Given the description of an element on the screen output the (x, y) to click on. 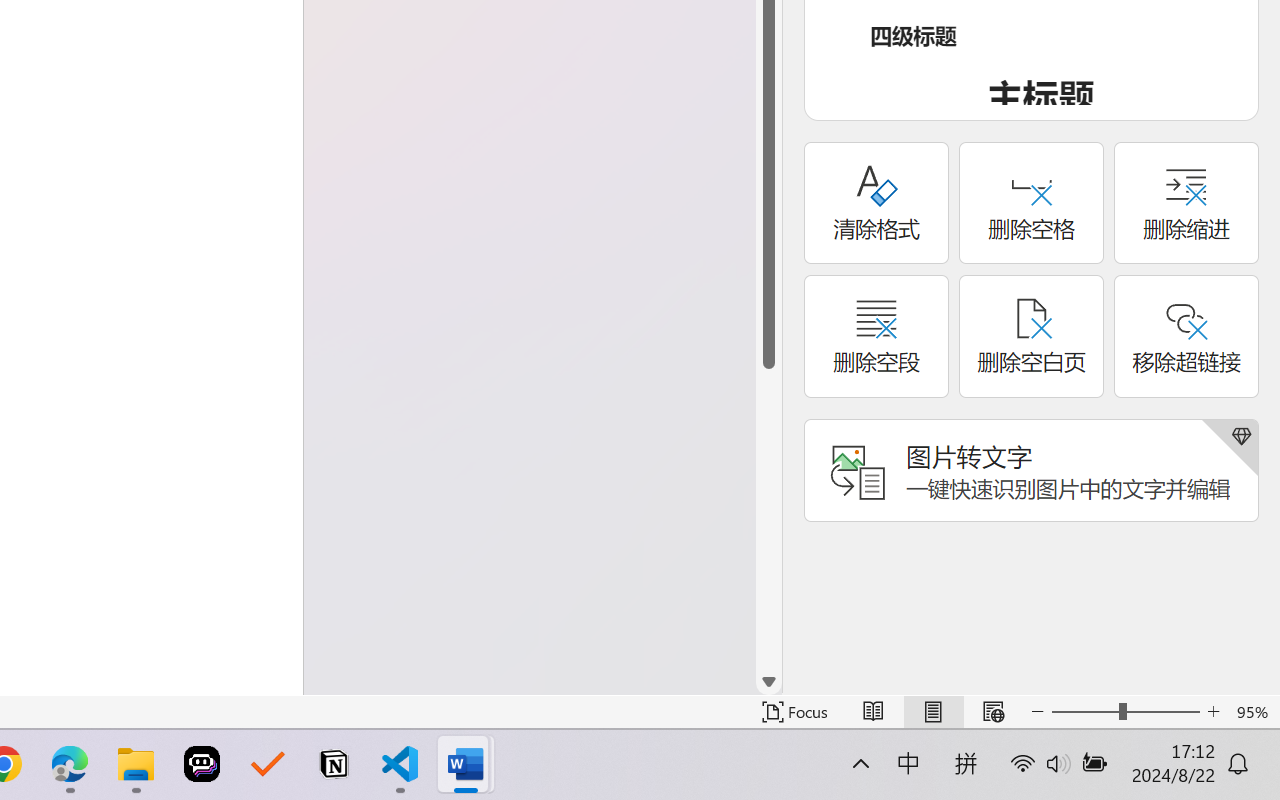
Zoom 95% (1253, 712)
